Given the description of an element on the screen output the (x, y) to click on. 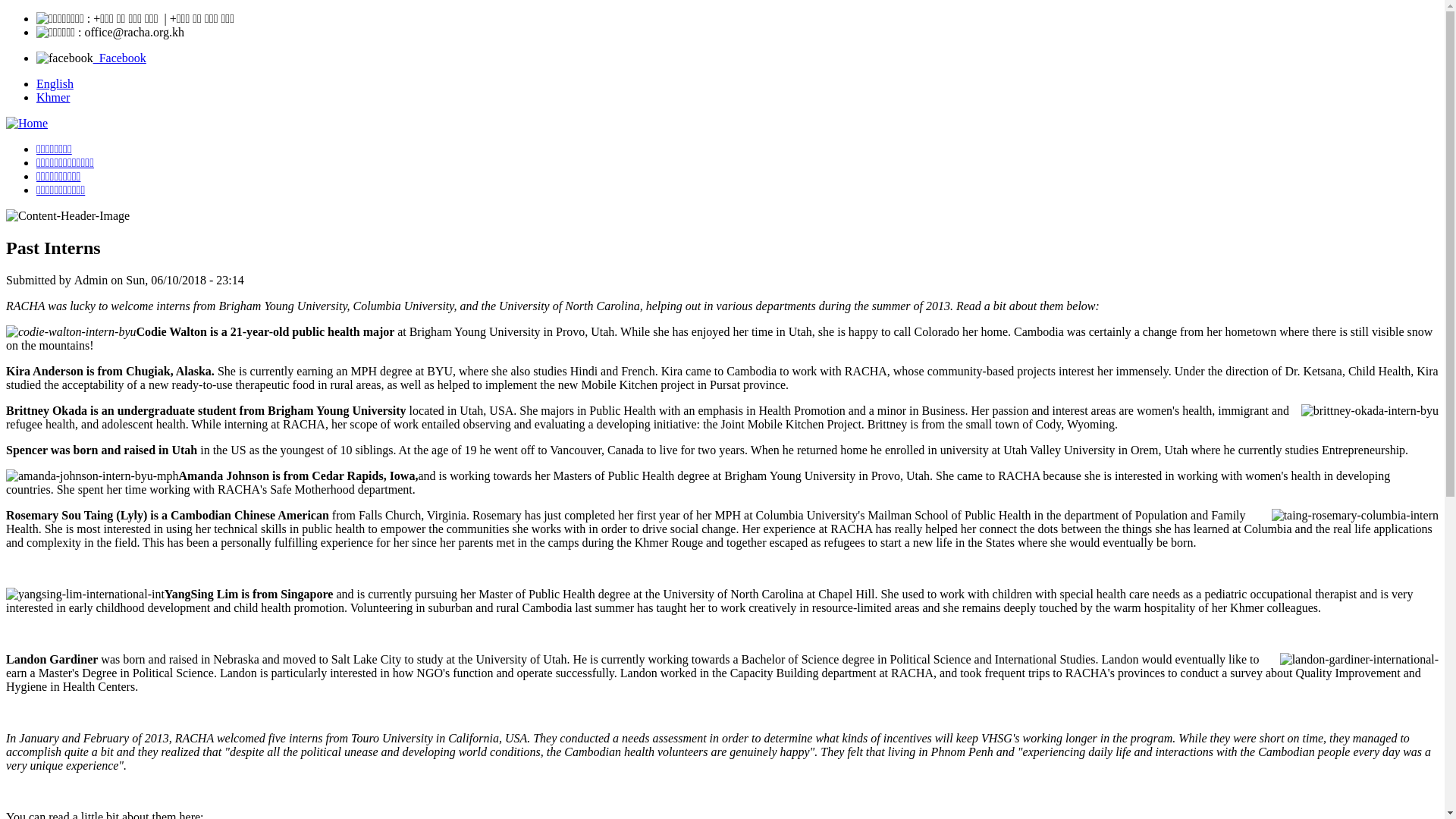
Khmer (52, 97)
Home (26, 123)
  Facebook (120, 57)
English (55, 83)
